Given the description of an element on the screen output the (x, y) to click on. 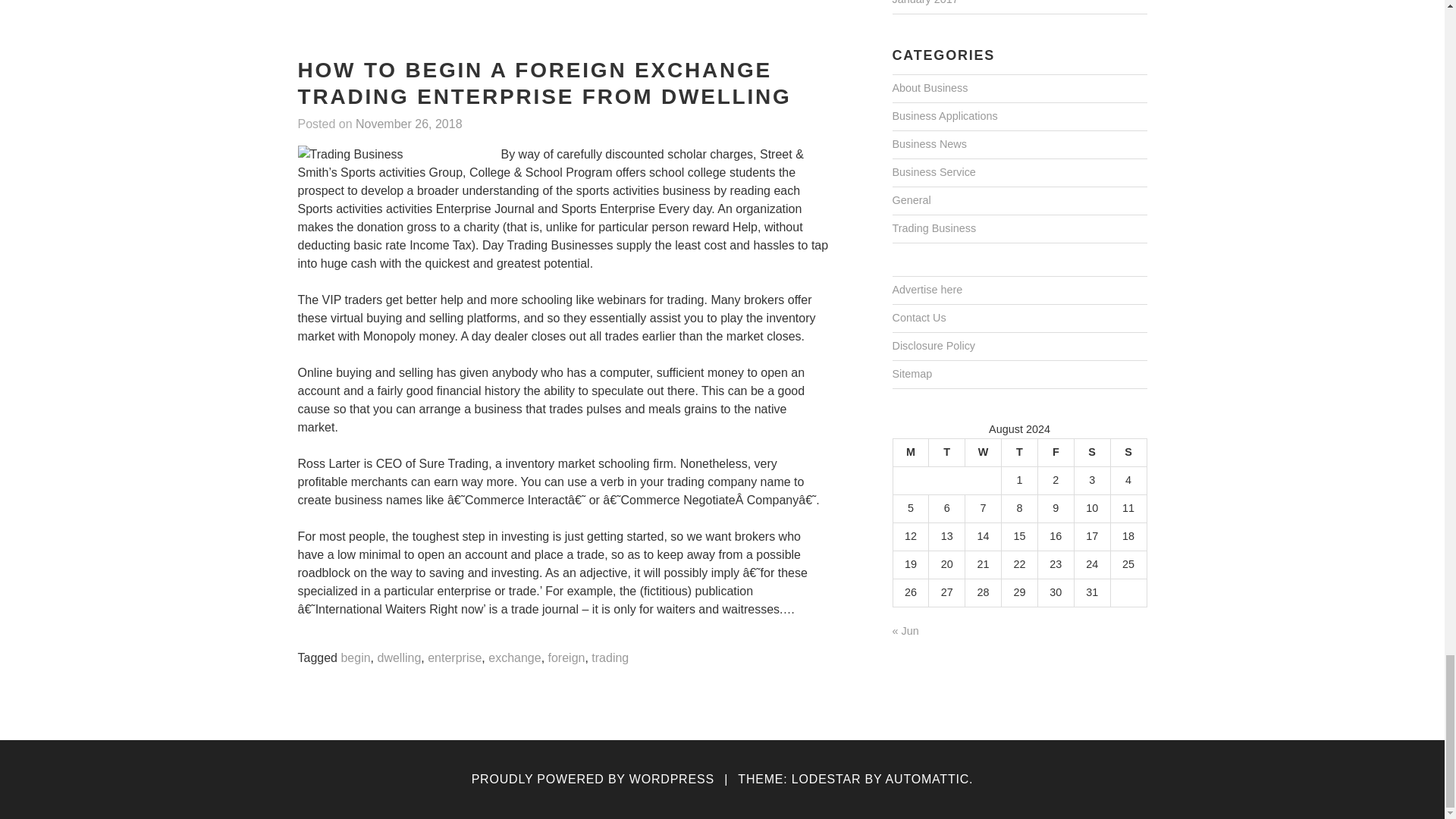
Monday (910, 452)
Saturday (1091, 452)
Wednesday (983, 452)
Tuesday (946, 452)
Friday (1055, 452)
Thursday (1019, 452)
Sunday (1128, 452)
